Given the description of an element on the screen output the (x, y) to click on. 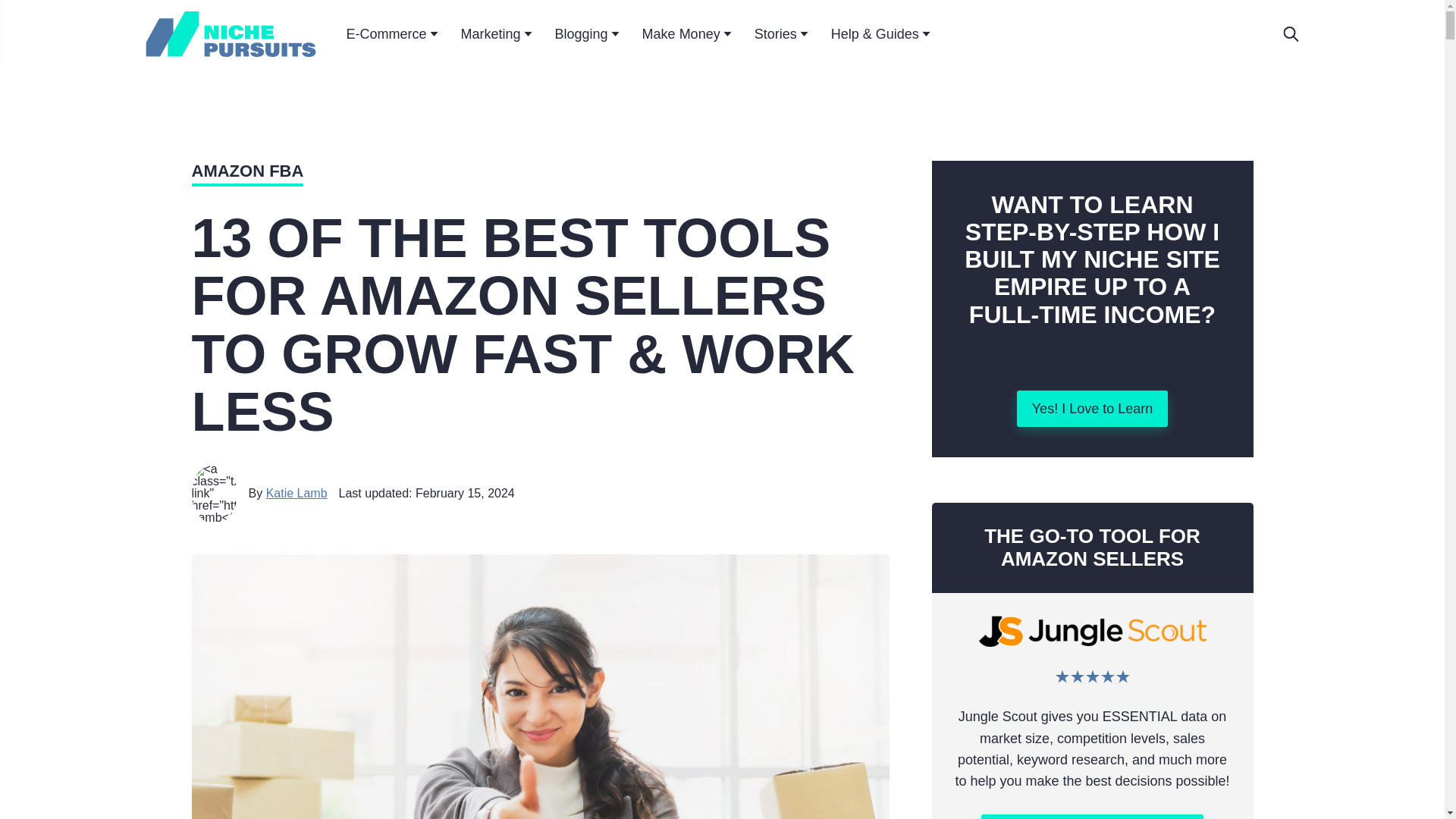
AMAZON FBA (246, 172)
Katie Lamb (296, 492)
